Given the description of an element on the screen output the (x, y) to click on. 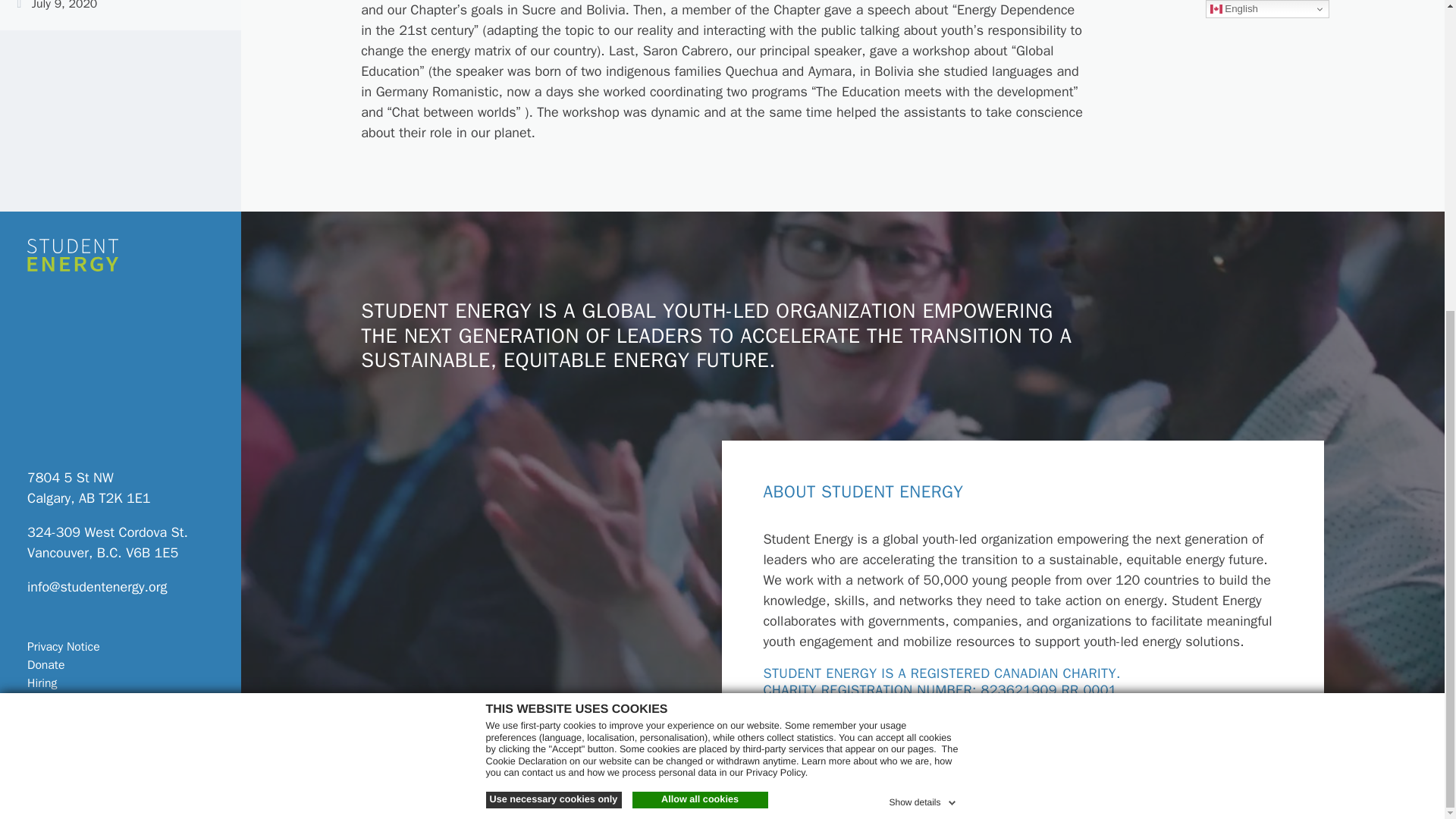
Allow all cookies (699, 306)
Show details (923, 306)
Use necessary cookies only (552, 306)
